Given the description of an element on the screen output the (x, y) to click on. 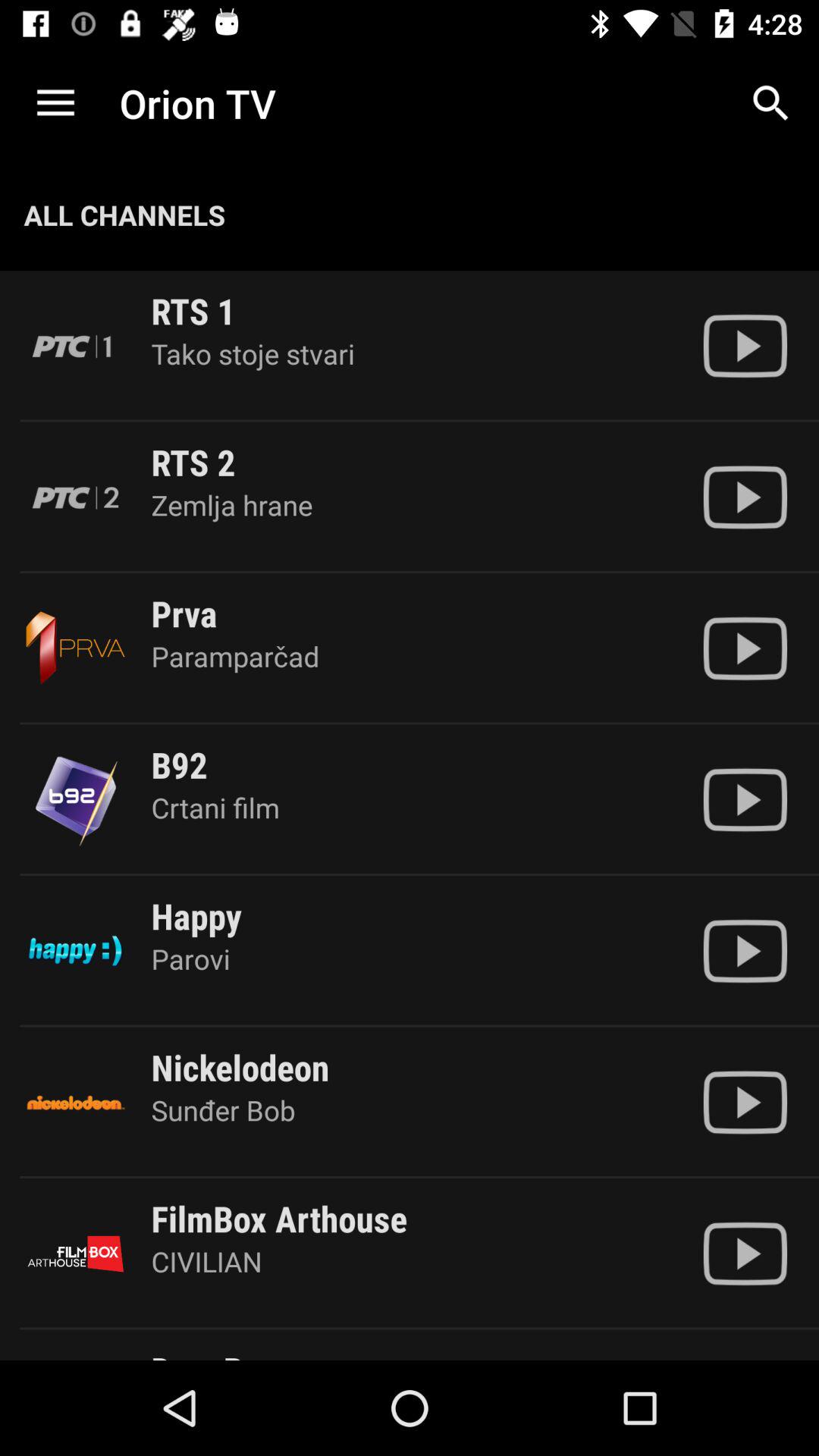
orion tv (745, 950)
